Given the description of an element on the screen output the (x, y) to click on. 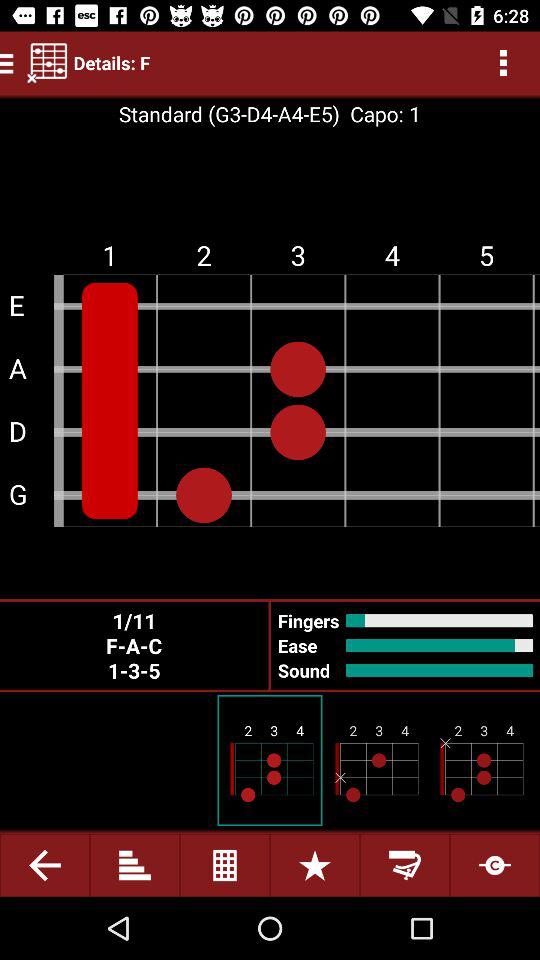
turn off the item next to   capo: 1 icon (228, 113)
